Given the description of an element on the screen output the (x, y) to click on. 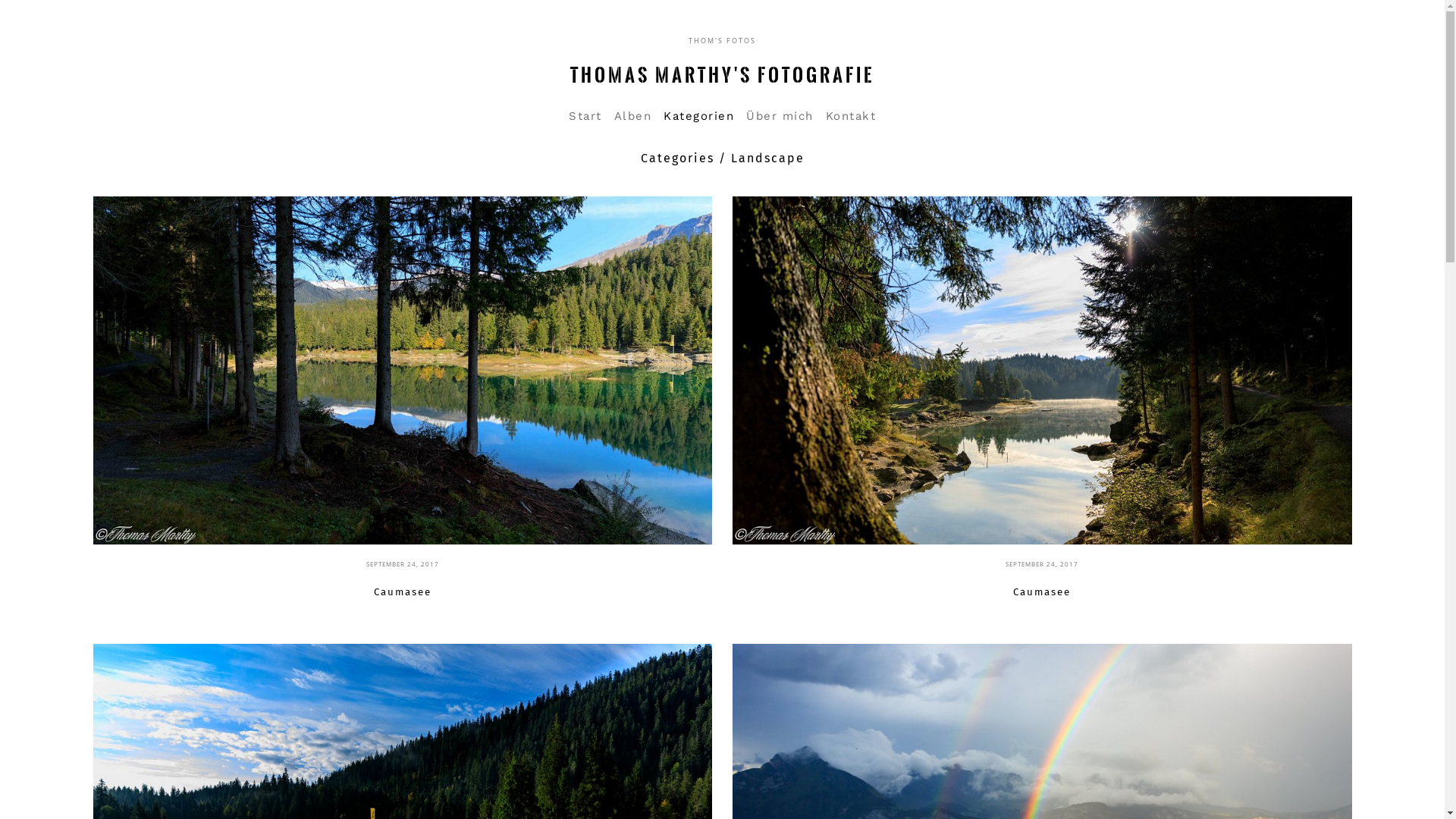
Caumasee Element type: text (1041, 592)
Alben Element type: text (633, 115)
Caumasee Element type: hover (402, 370)
Landscape Element type: text (767, 157)
Kontakt Element type: text (850, 115)
Start Element type: text (585, 115)
Caumasee Element type: text (402, 592)
Kategorien Element type: text (698, 115)
Caumasee Element type: hover (1042, 370)
Categories Element type: text (676, 157)
THOMAS MARTHY'S FOTOGRAFIE Element type: text (722, 74)
